Given the description of an element on the screen output the (x, y) to click on. 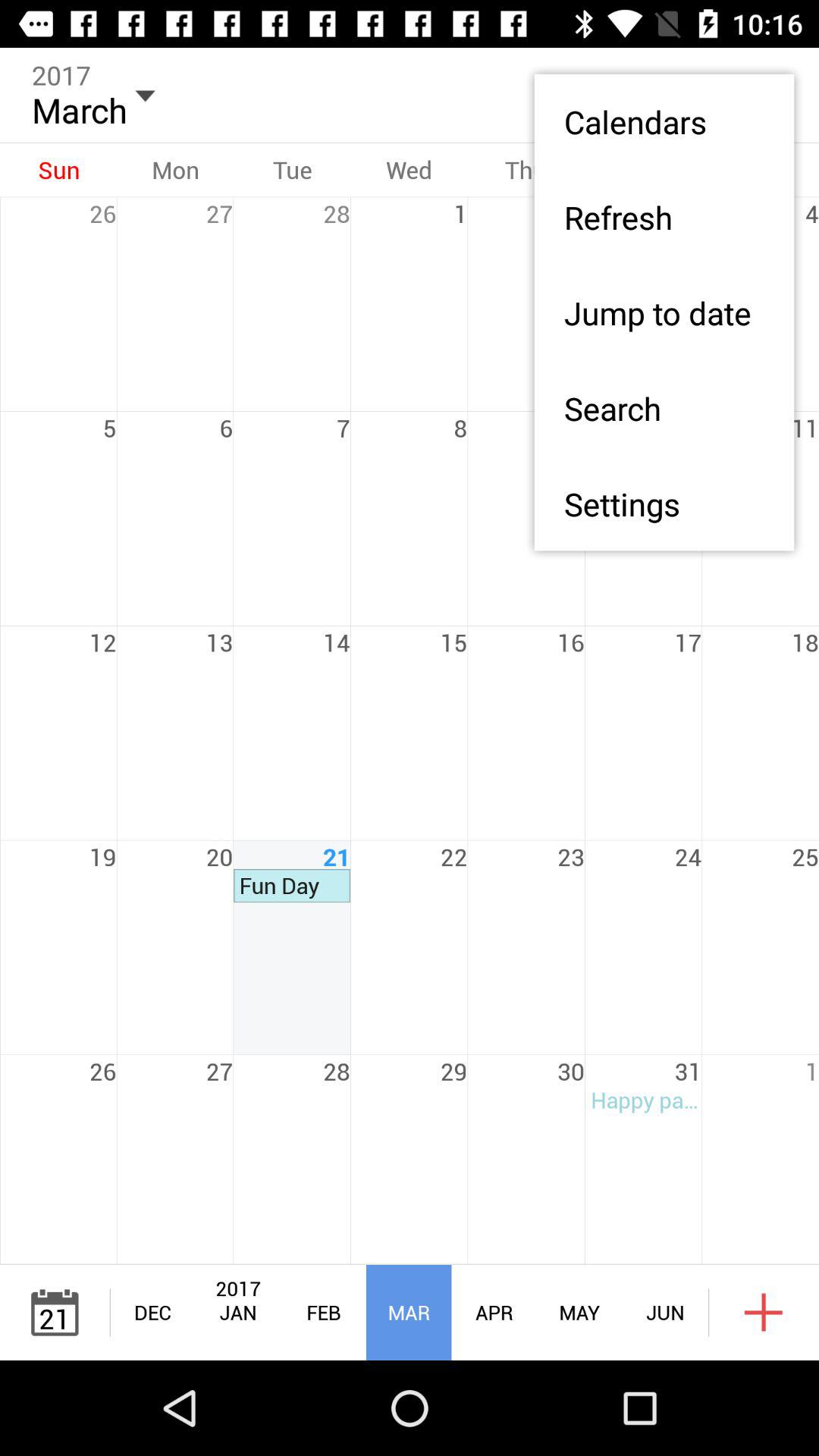
turn on settings item (664, 503)
